Given the description of an element on the screen output the (x, y) to click on. 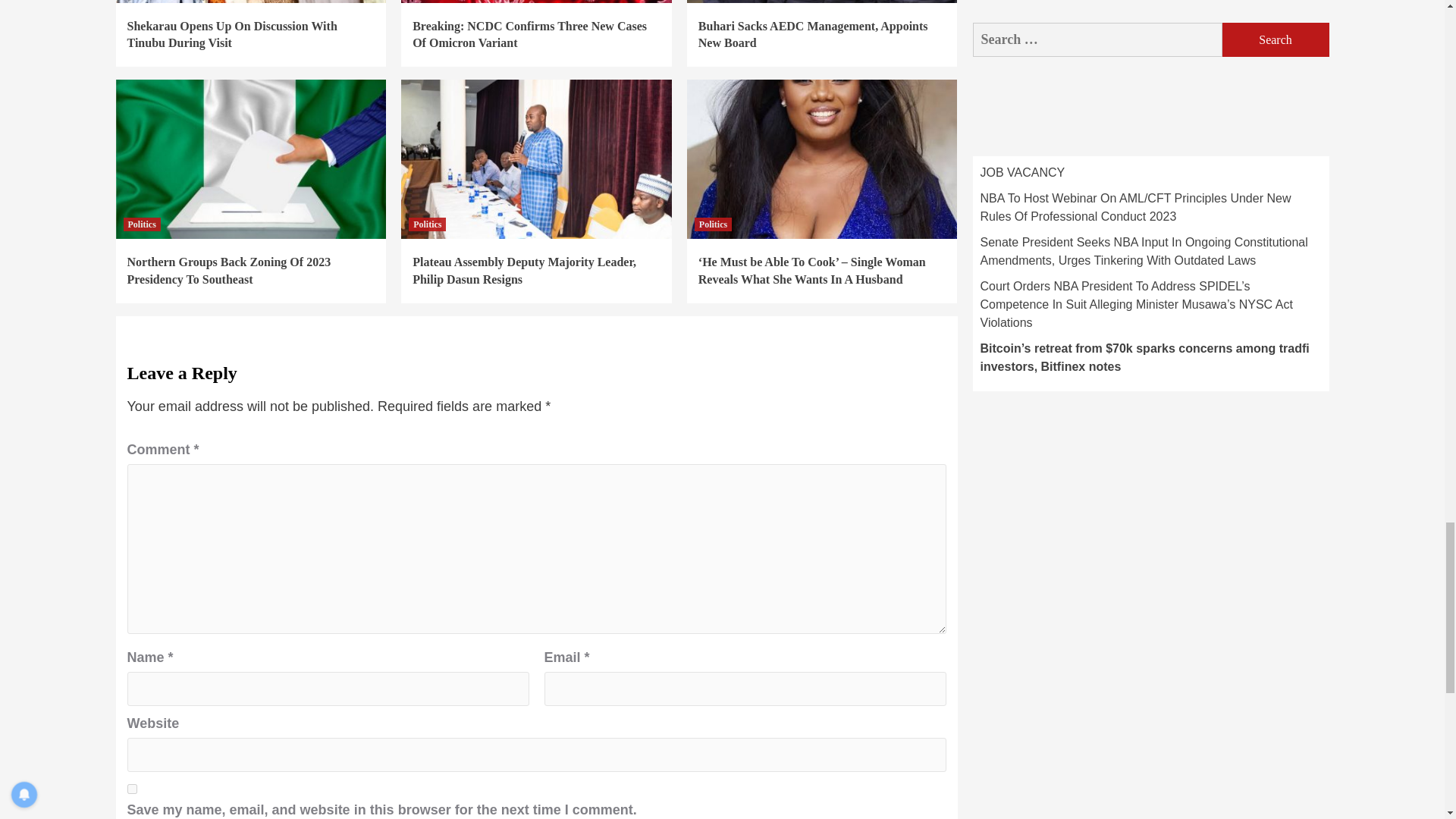
Breaking: NCDC Confirms Three New Cases Of Omicron Variant (529, 34)
Buhari Sacks AEDC Management, Appoints New Board (813, 34)
Shekarau Opens Up On Discussion With Tinubu During Visit (232, 34)
yes (132, 788)
